Given the description of an element on the screen output the (x, y) to click on. 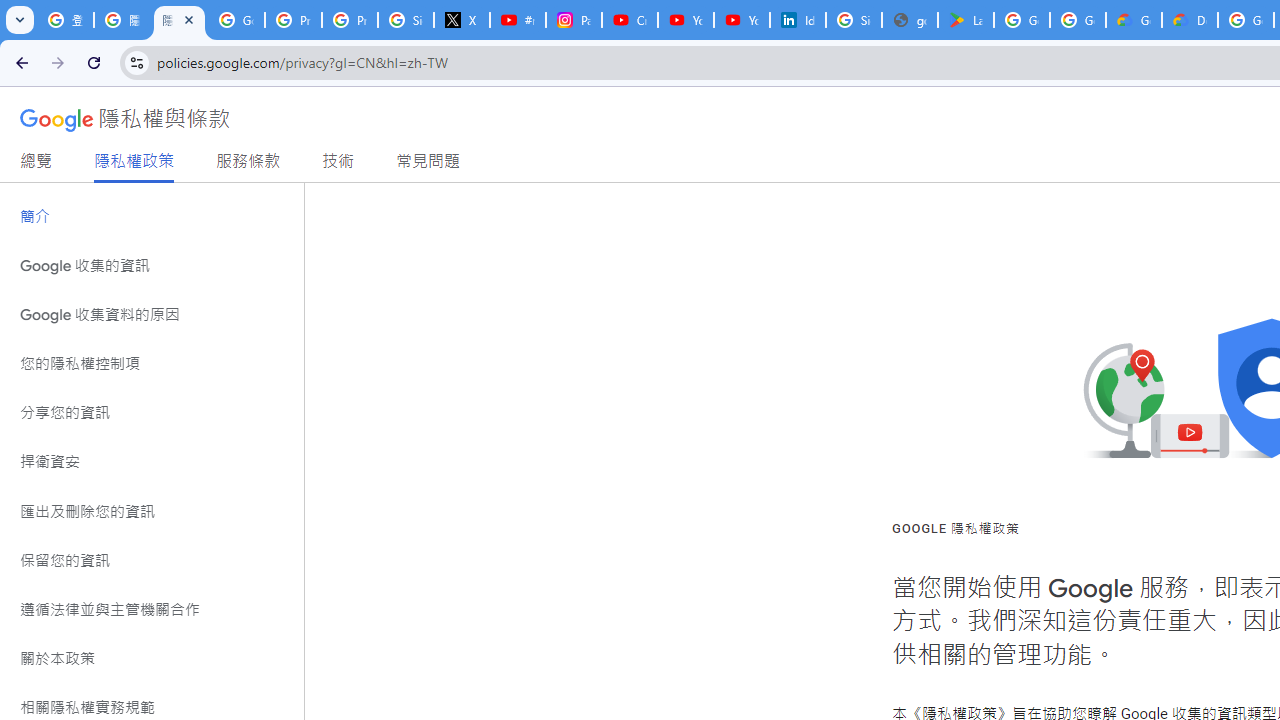
Government | Google Cloud (1133, 20)
YouTube Culture & Trends - YouTube Top 10, 2021 (742, 20)
Sign in - Google Accounts (853, 20)
google_privacy_policy_en.pdf (909, 20)
